Given the description of an element on the screen output the (x, y) to click on. 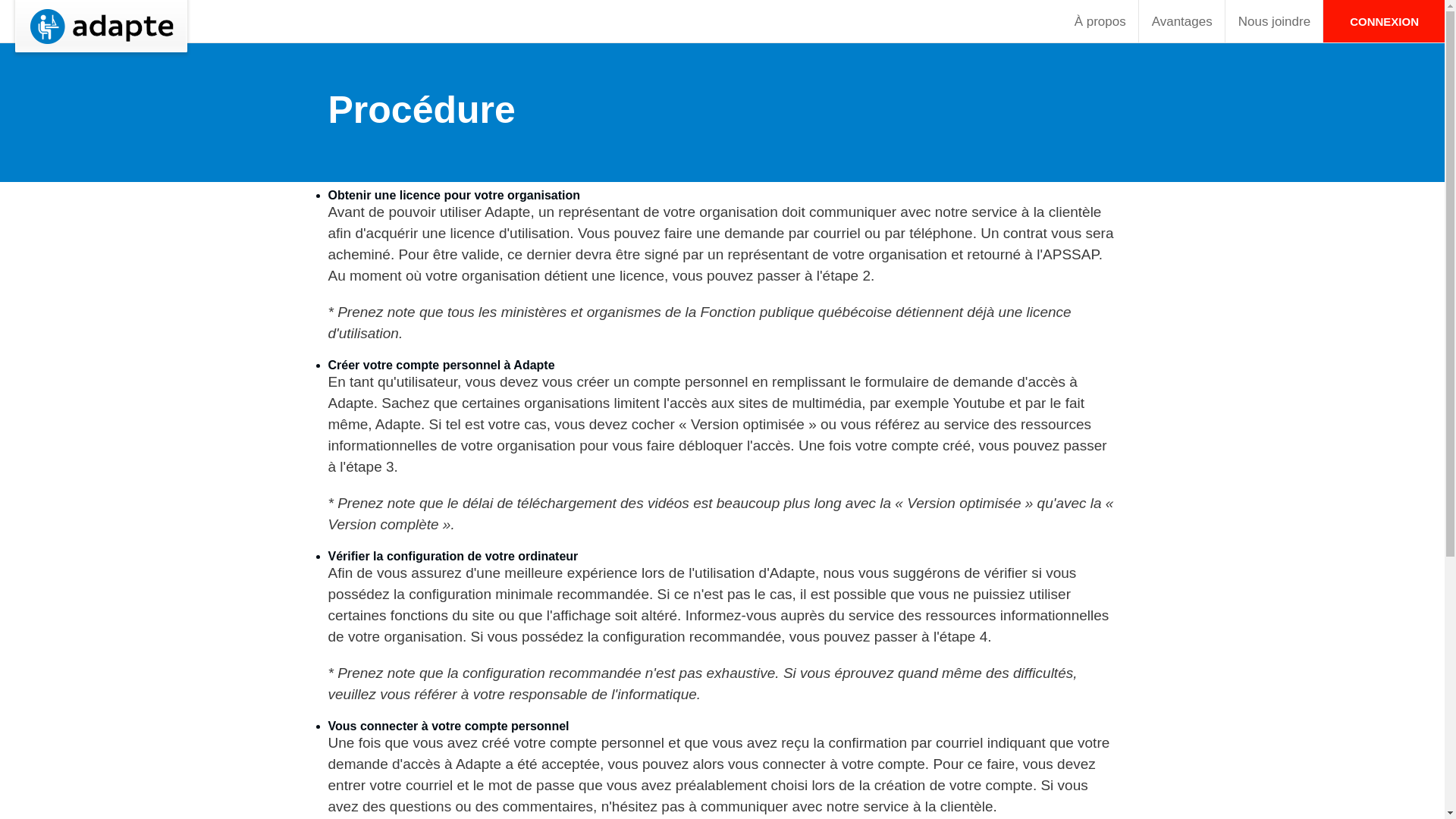
Avantages Element type: text (1181, 21)
CONNEXION Element type: text (1383, 21)
Nous joindre Element type: text (1274, 21)
